Given the description of an element on the screen output the (x, y) to click on. 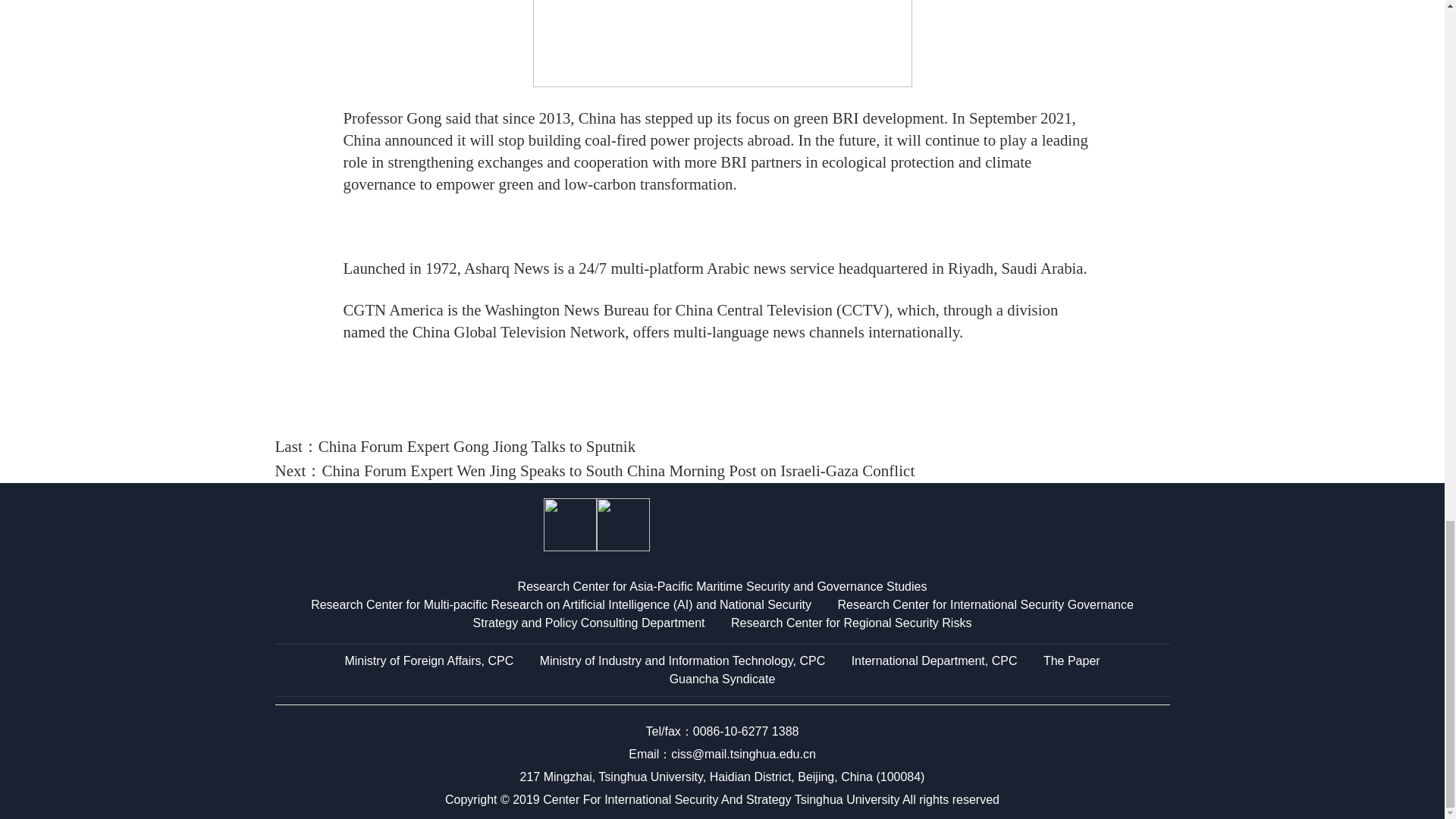
Strategy and Policy Consulting Department (588, 622)
Guancha Syndicate (722, 678)
Ministry of Industry and Information Technology, CPC (682, 660)
1698713258611071562.png (721, 43)
International Department, CPC (934, 660)
Ministry of Foreign Affairs, CPC (428, 660)
Research Center for International Security Governance (984, 604)
Ministry of Foreign Affairs, CPC (428, 660)
The Paper (1071, 660)
